Given the description of an element on the screen output the (x, y) to click on. 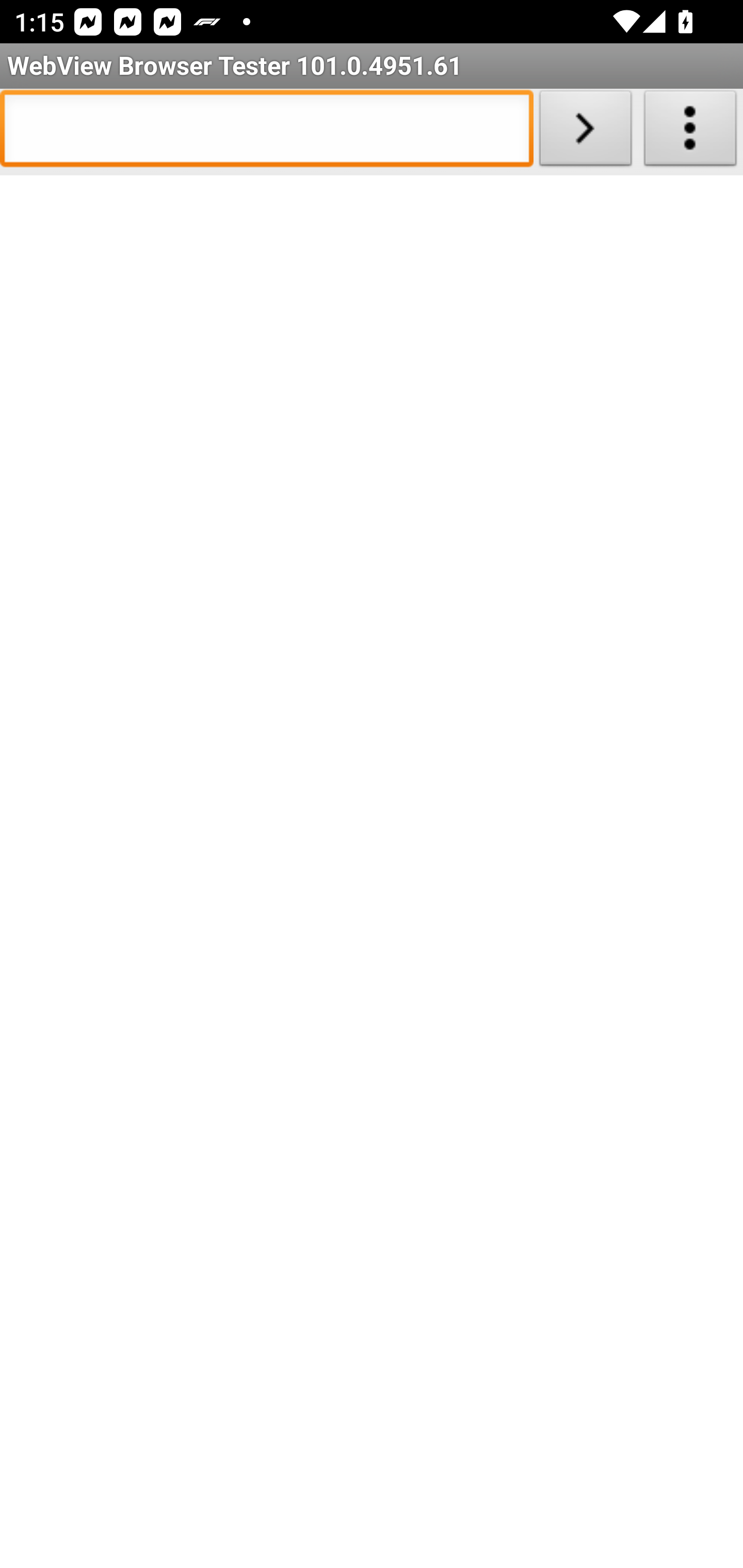
Load URL (585, 132)
About WebView (690, 132)
